Given the description of an element on the screen output the (x, y) to click on. 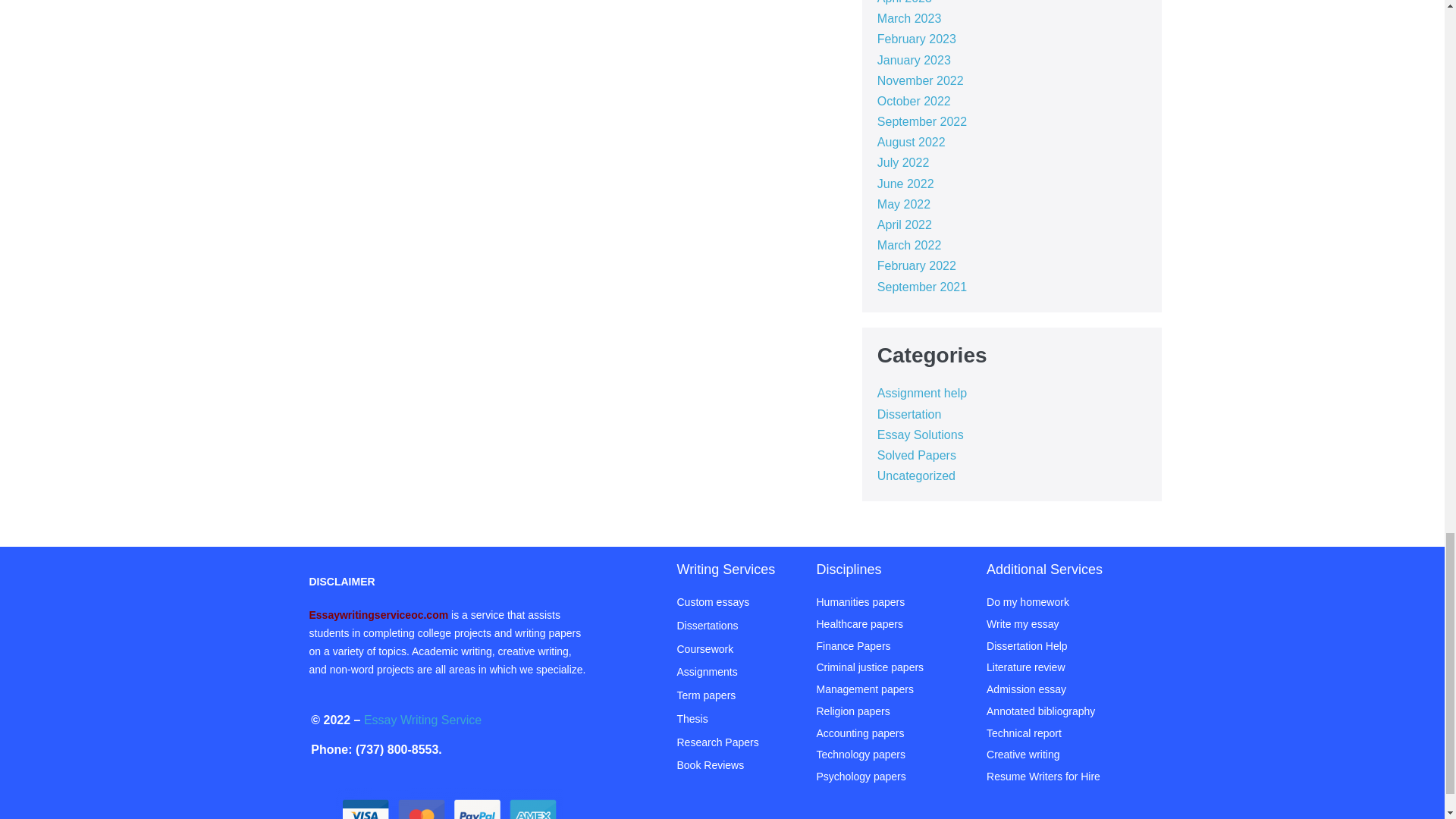
March 2023 (909, 18)
April 2023 (904, 2)
